Given the description of an element on the screen output the (x, y) to click on. 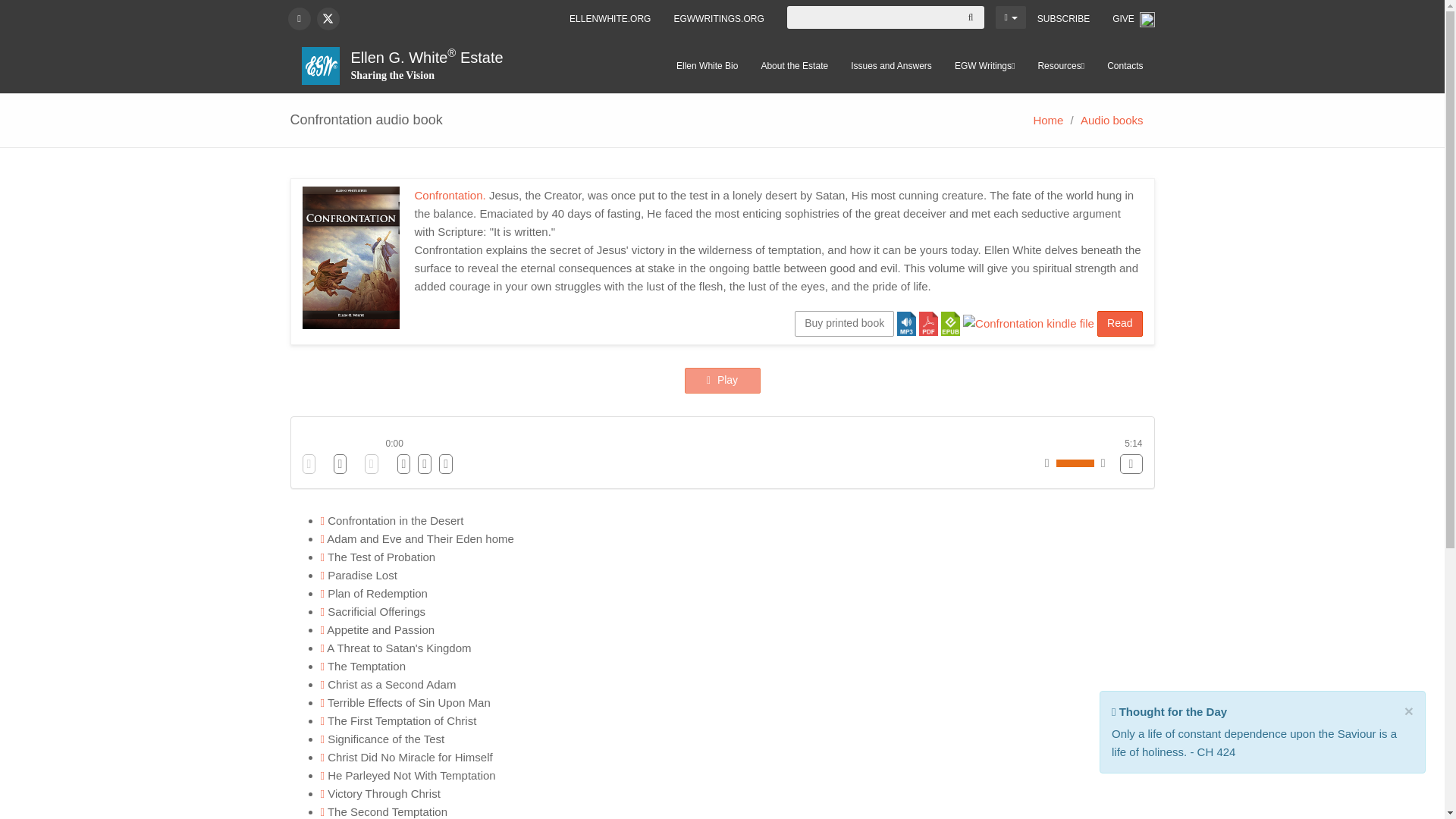
SUBSCRIBE (1063, 18)
Issues and Answers (891, 65)
Ellen White Bio (707, 65)
Share (1169, 711)
Mute (1130, 464)
ELLENWHITE.ORG (609, 18)
GIVE   (1133, 19)
EGWWRITINGS.ORG (718, 18)
About the Estate (794, 65)
EGW Writings (984, 65)
